Given the description of an element on the screen output the (x, y) to click on. 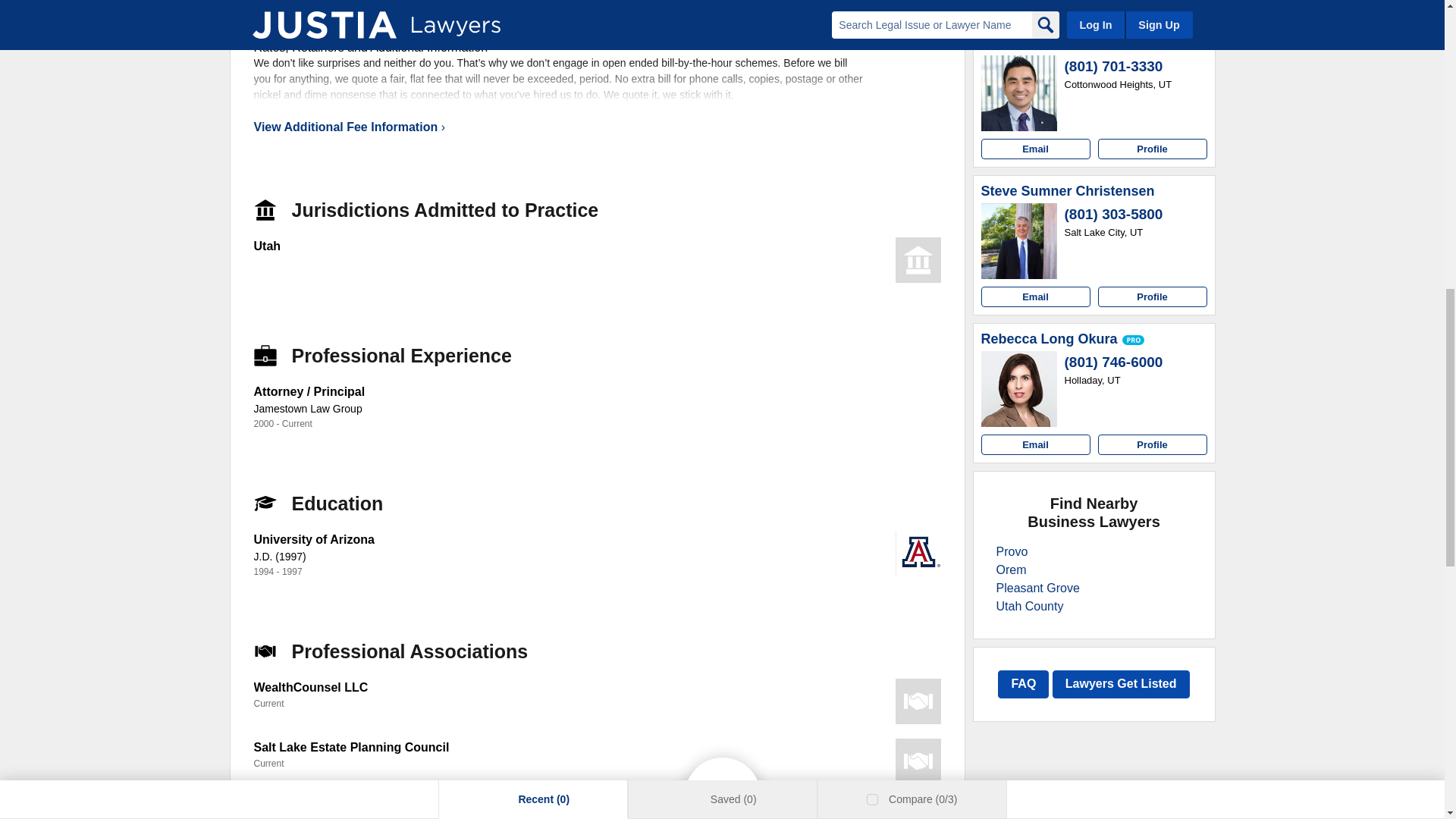
John Park (1019, 93)
Steve Sumner Christensen (1067, 191)
John Park (1013, 44)
